Given the description of an element on the screen output the (x, y) to click on. 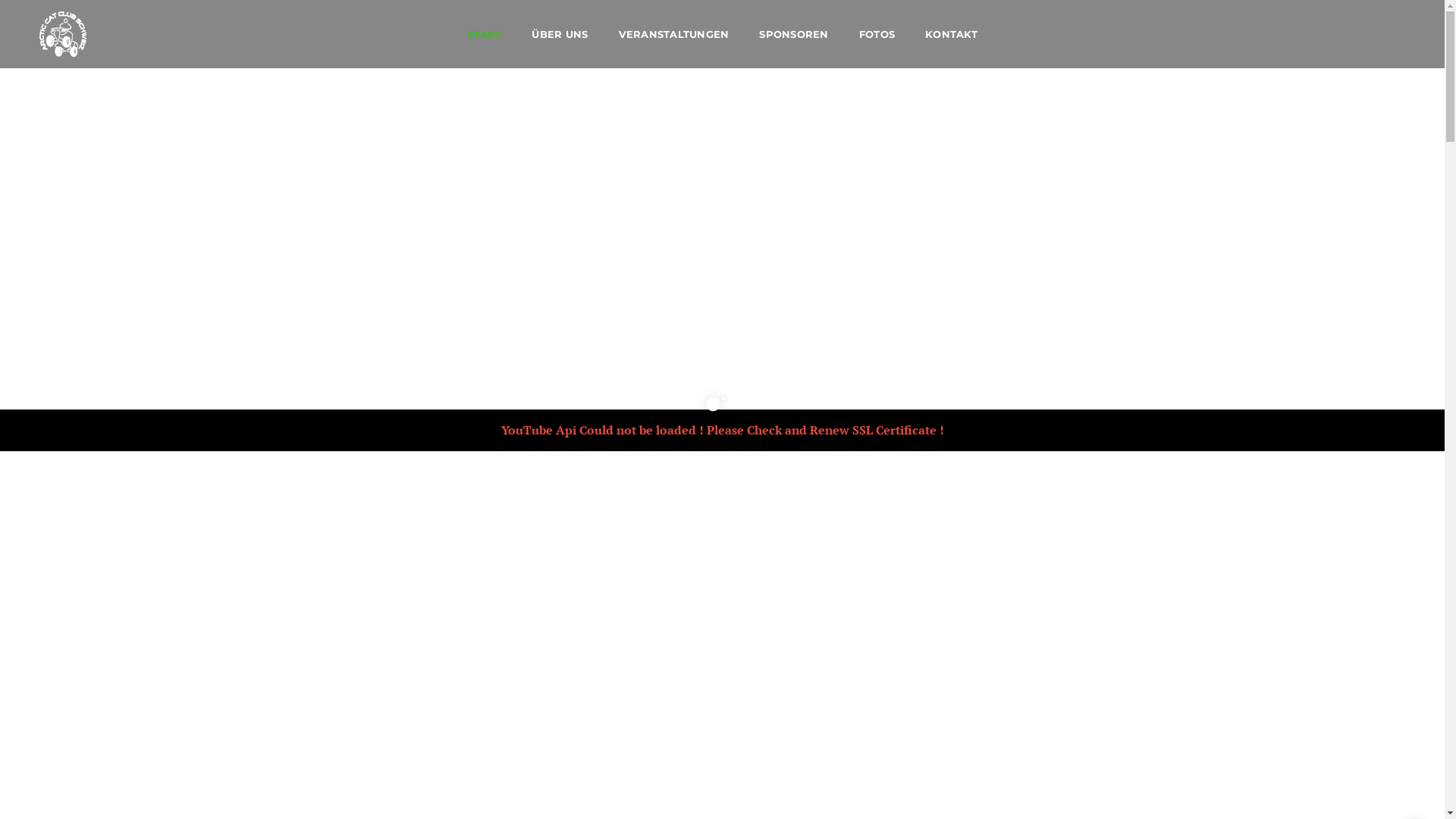
SPONSOREN Element type: text (793, 34)
FOTOS Element type: text (877, 34)
KONTAKT Element type: text (951, 34)
VERANSTALTUNGEN Element type: text (673, 34)
START Element type: text (483, 34)
